Given the description of an element on the screen output the (x, y) to click on. 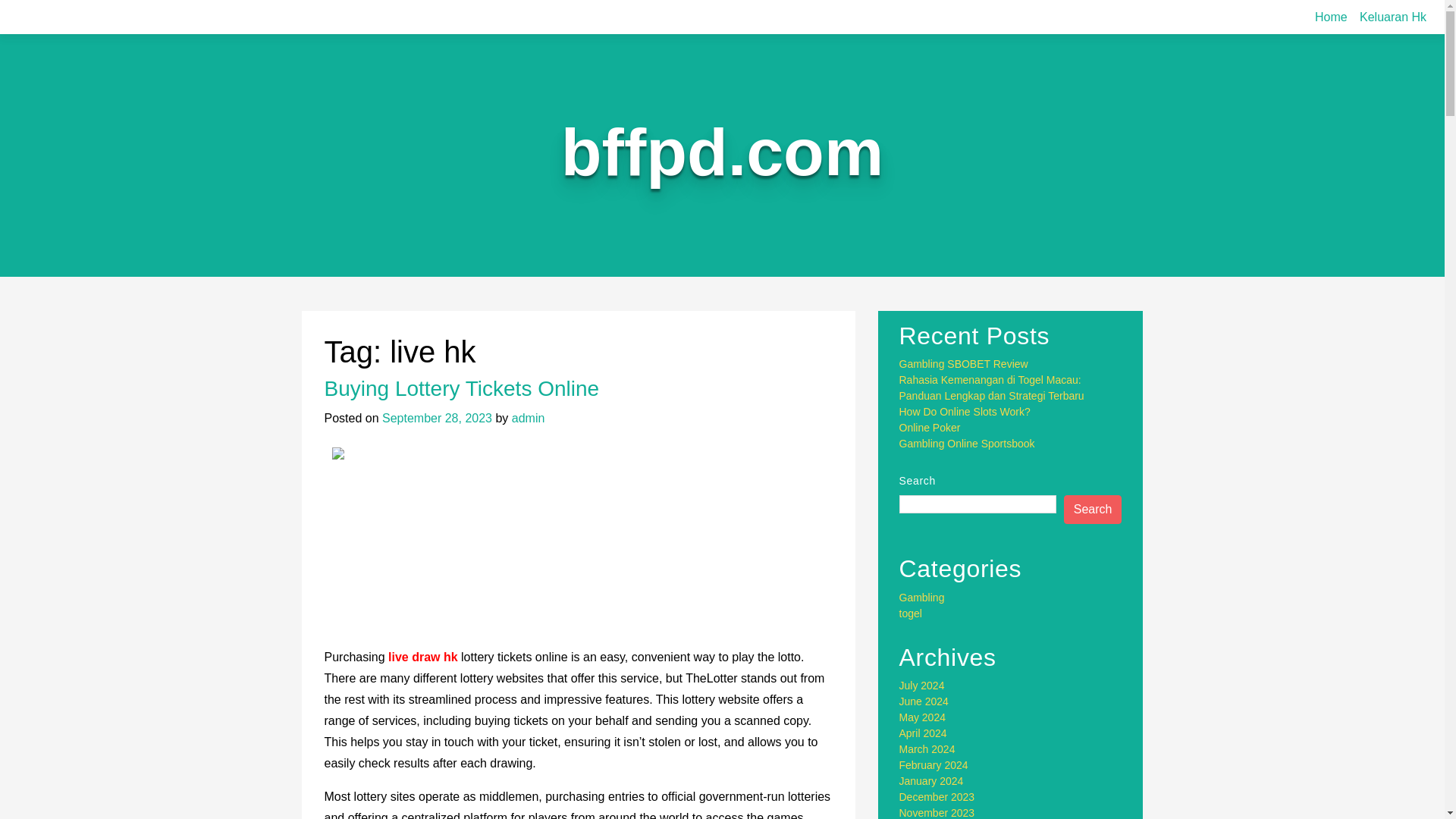
admin (528, 418)
Home (1331, 16)
Keluaran Hk (1393, 16)
Buying Lottery Tickets Online (461, 388)
live draw hk (423, 656)
Home (1331, 16)
September 28, 2023 (436, 418)
Keluaran Hk (1393, 16)
